Given the description of an element on the screen output the (x, y) to click on. 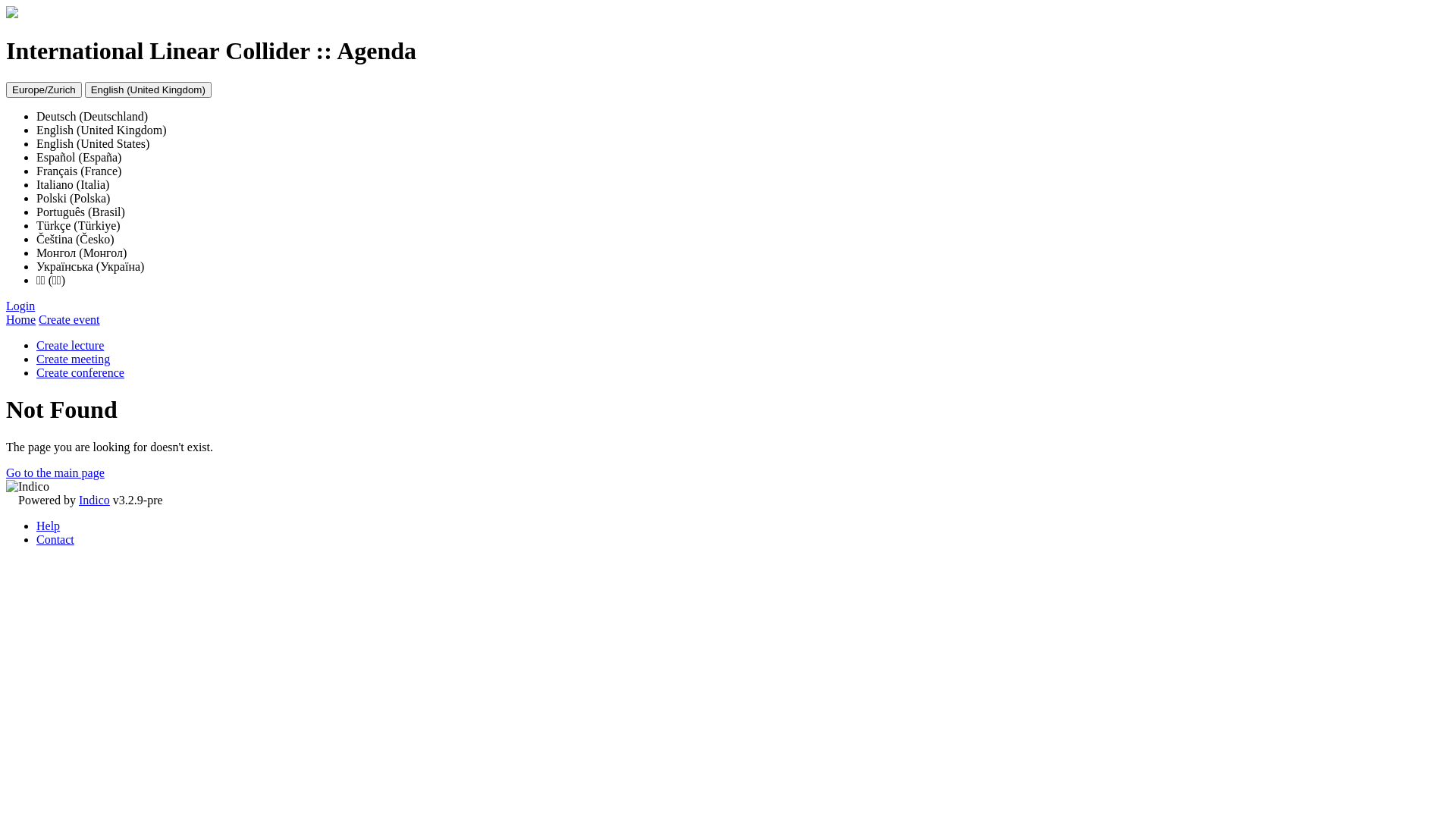
Create meeting Element type: text (72, 358)
Create event Element type: text (68, 319)
Home Element type: text (20, 319)
Create lecture Element type: text (69, 344)
Contact Element type: text (55, 539)
English (United Kingdom) Element type: text (101, 129)
Italiano (Italia) Element type: text (72, 184)
English (United States) Element type: text (92, 143)
Go to the main page Element type: text (55, 472)
Indico Element type: text (93, 499)
Polski (Polska) Element type: text (72, 197)
Europe/Zurich Element type: text (43, 89)
Login Element type: text (20, 305)
English (United Kingdom) Element type: text (147, 89)
Create conference Element type: text (80, 372)
Help Element type: text (47, 525)
Deutsch (Deutschland) Element type: text (91, 115)
